Given the description of an element on the screen output the (x, y) to click on. 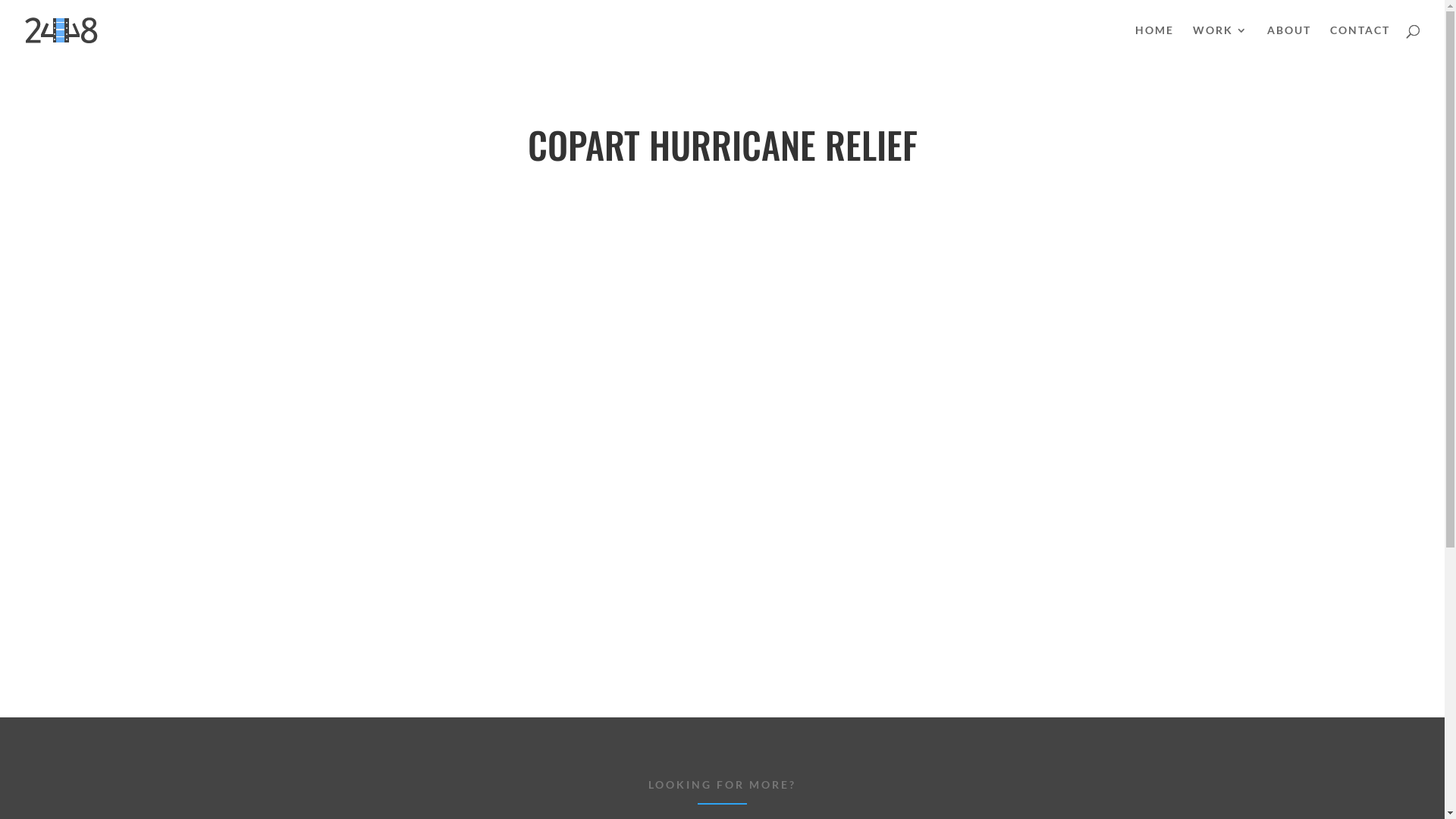
Copart-Hurricane Harvey Relief Element type: hover (721, 424)
CONTACT Element type: text (1360, 42)
ABOUT Element type: text (1289, 42)
HOME Element type: text (1154, 42)
WORK Element type: text (1220, 42)
